Given the description of an element on the screen output the (x, y) to click on. 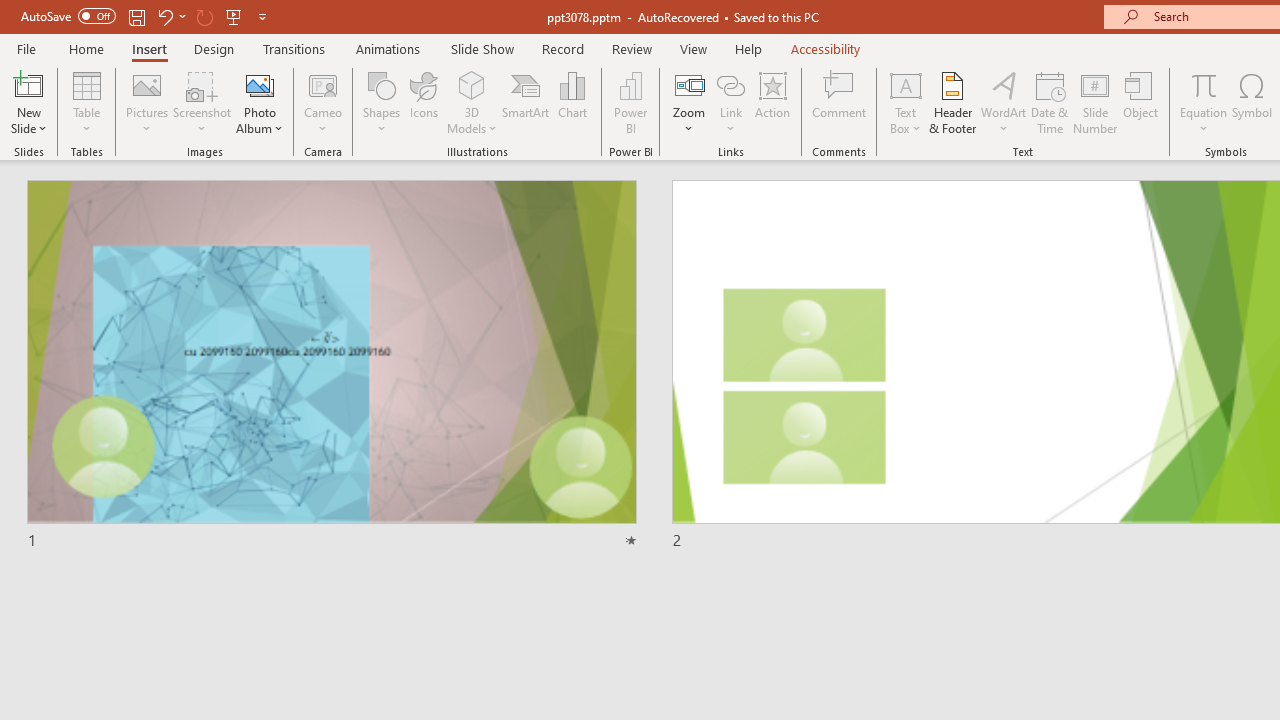
SmartArt... (525, 102)
Photo Album... (259, 102)
Comment (839, 102)
Slide Number (1095, 102)
Header & Footer... (952, 102)
Screenshot (202, 102)
Equation (1203, 84)
